Given the description of an element on the screen output the (x, y) to click on. 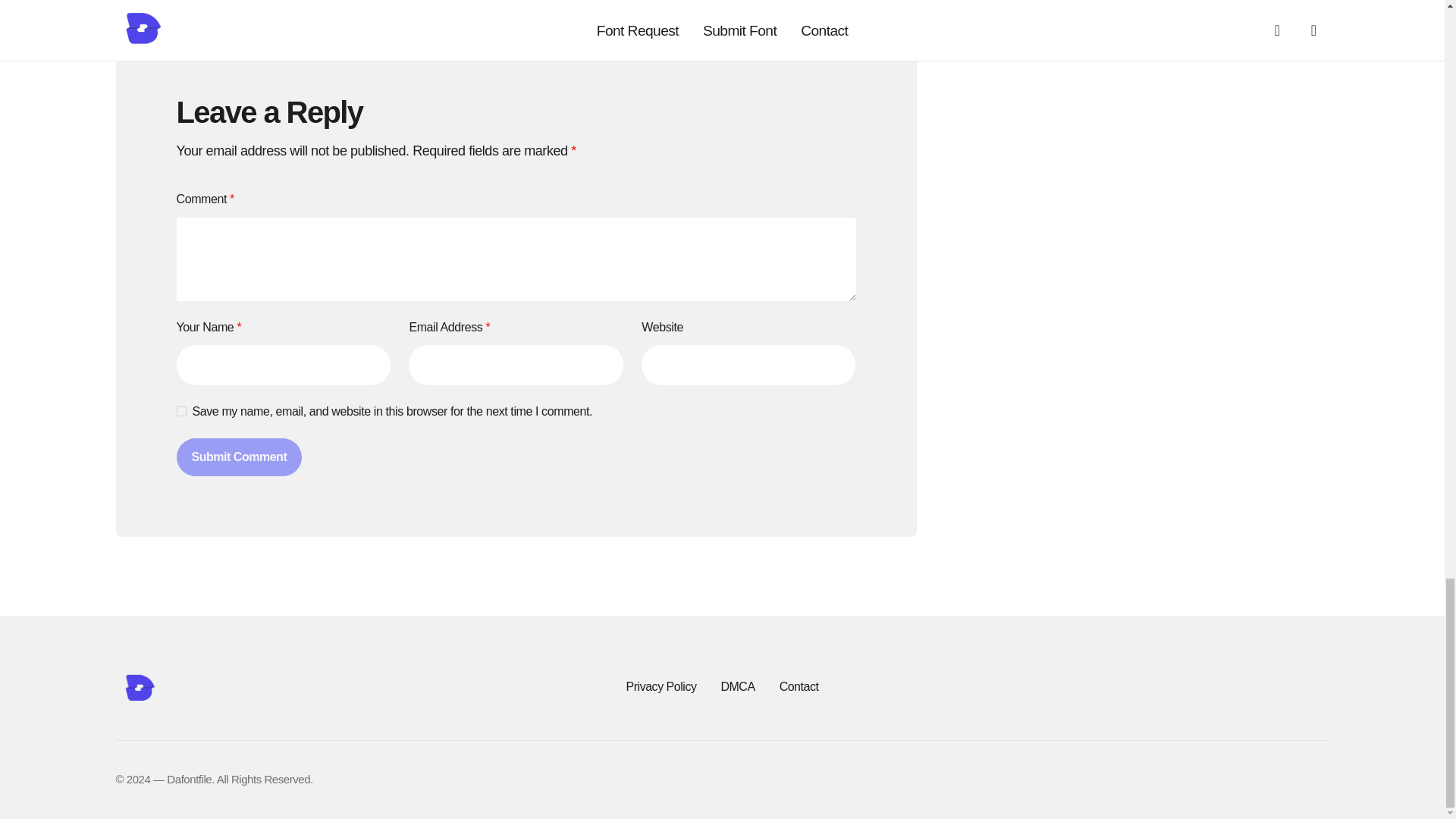
yes (181, 411)
